Given the description of an element on the screen output the (x, y) to click on. 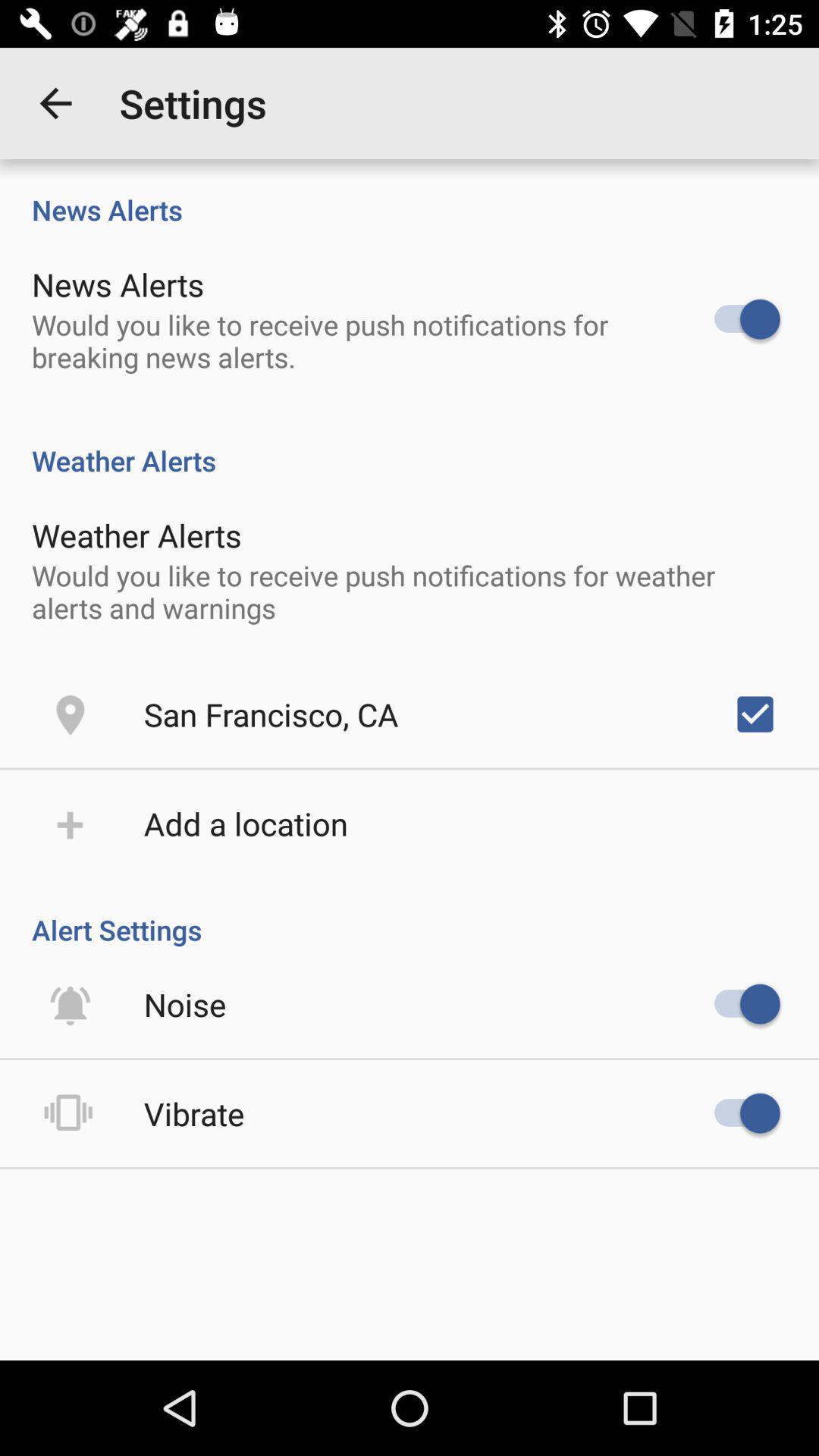
select icon above vibrate icon (184, 1004)
